Given the description of an element on the screen output the (x, y) to click on. 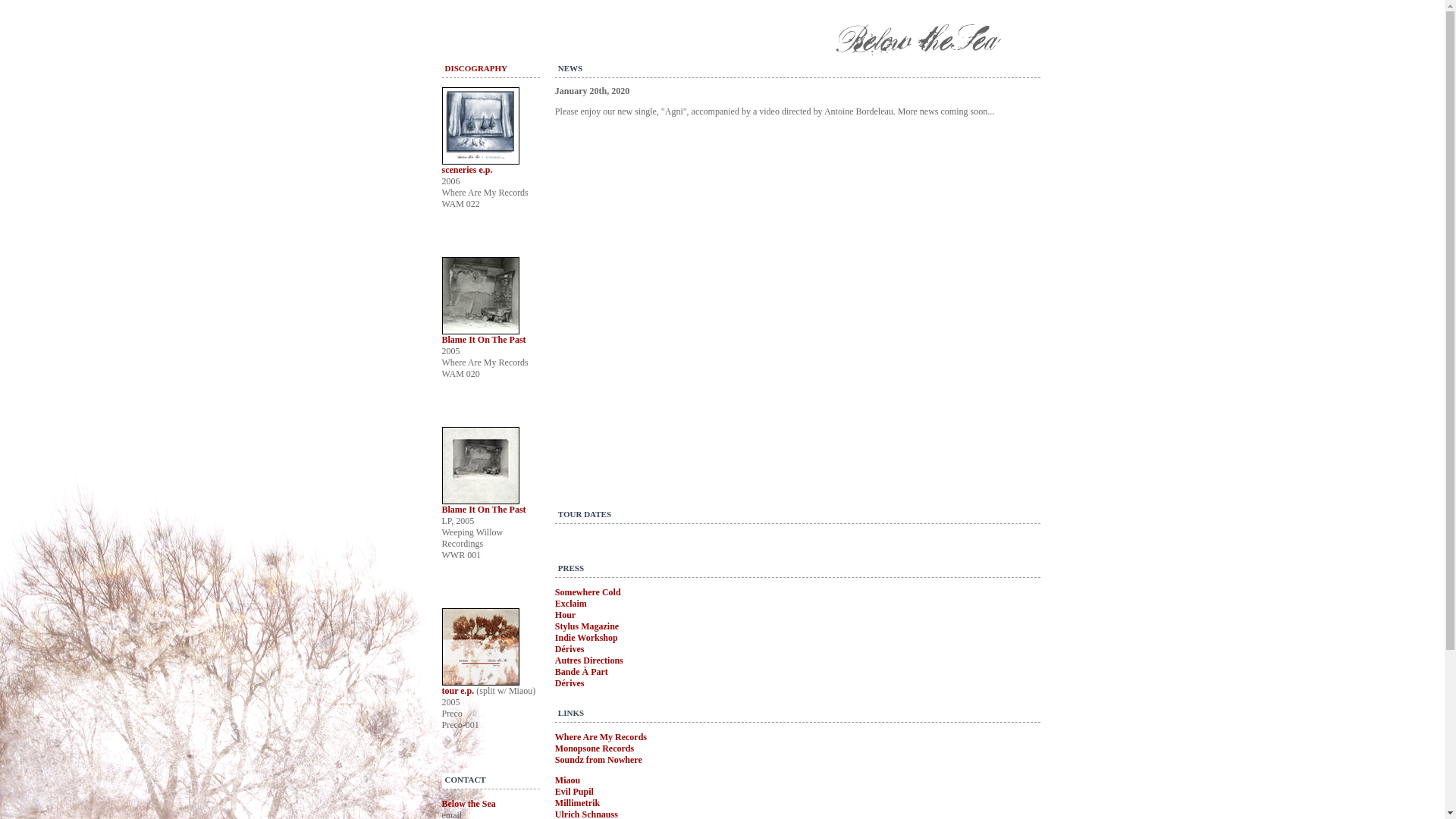
Soundz from Nowhere Element type: text (598, 759)
DISCOGRAPHY Element type: text (475, 67)
Blame It On The Past Element type: text (483, 509)
tour e.p. Element type: text (458, 690)
Evil Pupil Element type: text (574, 791)
sceneries e.p. Element type: text (466, 169)
Indie Workshop Element type: text (586, 637)
Monopsone Records Element type: text (594, 748)
Hour Element type: text (565, 614)
Blame It On The Past Element type: text (483, 339)
Miaou Element type: text (567, 780)
Below the Sea Element type: text (468, 803)
Exclaim Element type: text (570, 603)
Millimetrik Element type: text (577, 802)
Autres Directions Element type: text (589, 660)
Somewhere Cold Element type: text (588, 591)
Stylus Magazine Element type: text (586, 626)
Where Are My Records Element type: text (600, 736)
